Given the description of an element on the screen output the (x, y) to click on. 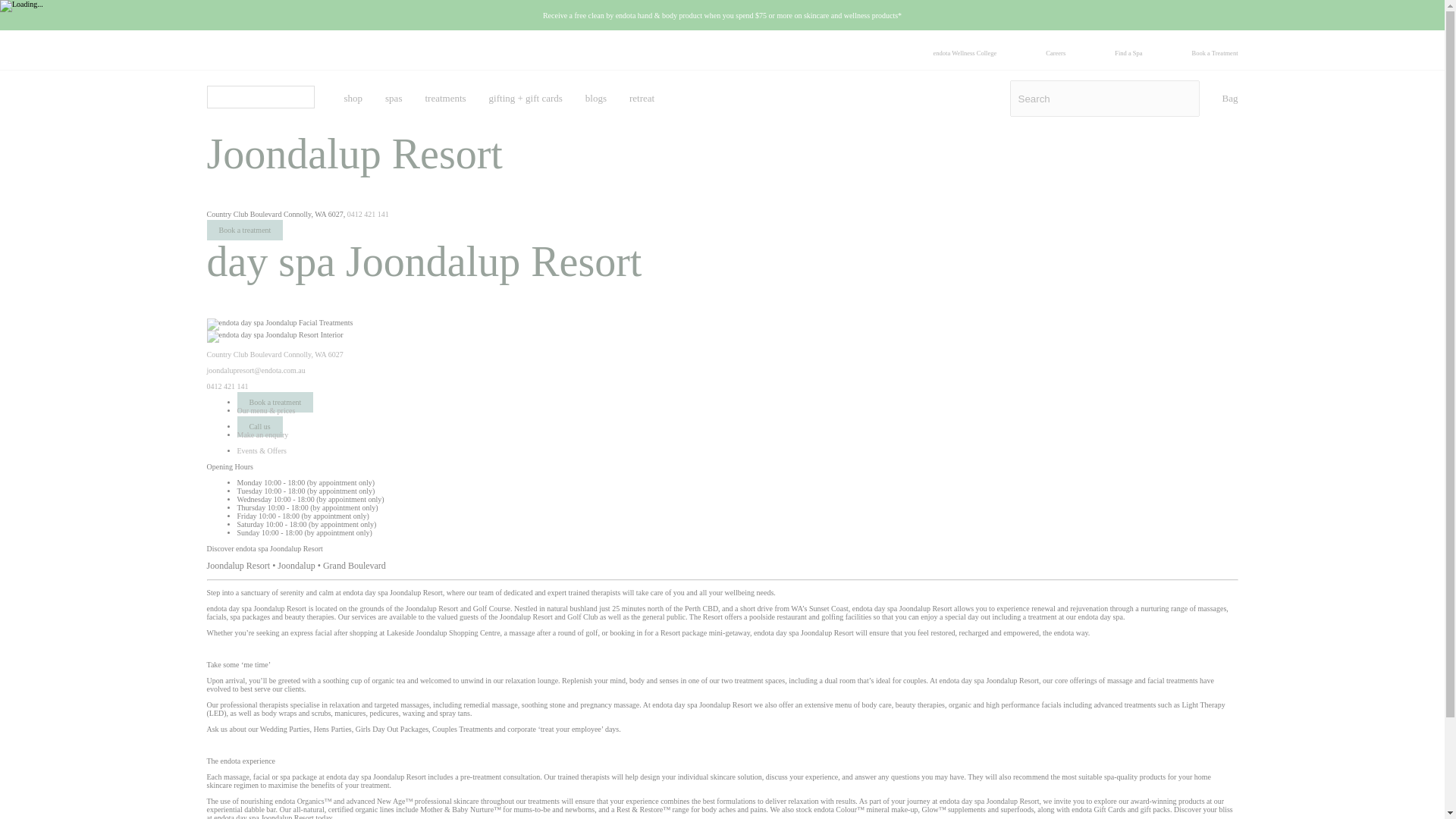
Book a Treatment (1215, 52)
endota Wellness College (965, 52)
Find a Spa (1128, 52)
Careers (1055, 52)
